Given the description of an element on the screen output the (x, y) to click on. 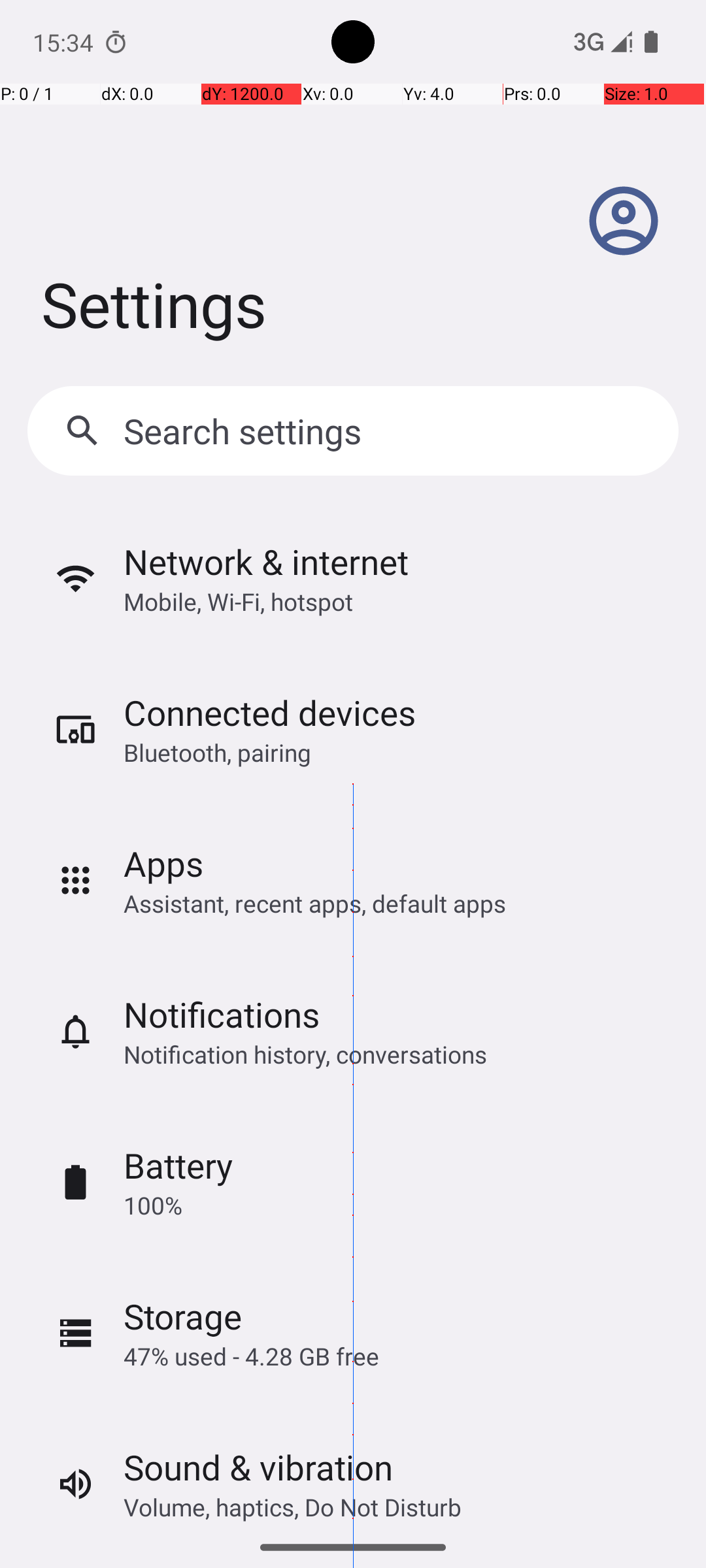
47% used - 4.28 GB free Element type: android.widget.TextView (251, 1355)
